Given the description of an element on the screen output the (x, y) to click on. 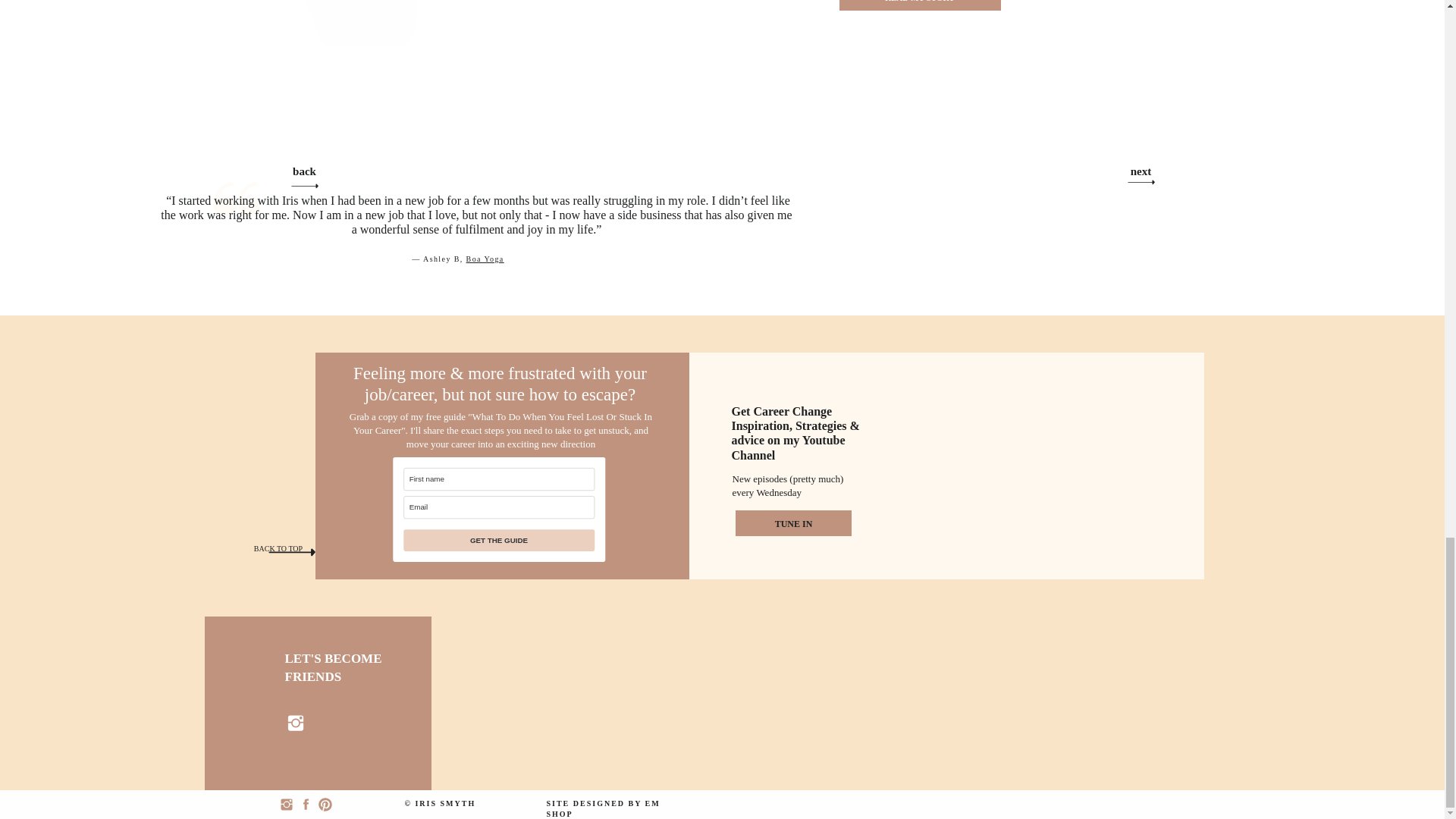
READ MY STORY (920, 1)
Boa Yoga (484, 258)
next (1140, 169)
back (304, 169)
